Given the description of an element on the screen output the (x, y) to click on. 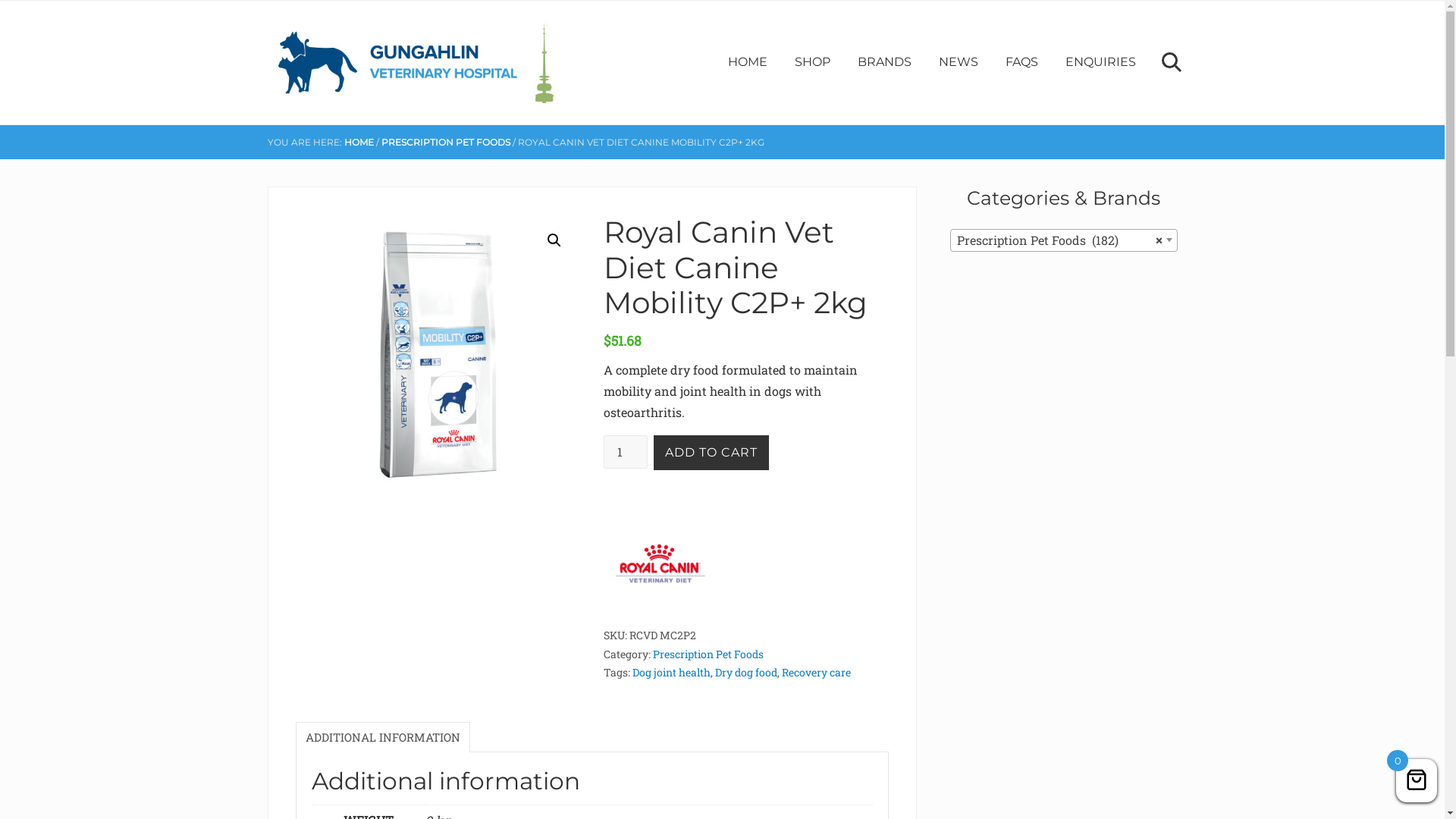
RCVD-MC2P Element type: hover (437, 356)
PRESCRIPTION PET FOODS Element type: text (444, 141)
Dog joint health Element type: text (671, 672)
SHOP Element type: text (812, 62)
Dry dog food Element type: text (746, 672)
HOME Element type: text (747, 62)
Search Element type: text (1169, 62)
Royal Canin Veterinary Diet Element type: hover (660, 566)
ENQUIRIES Element type: text (1099, 62)
Recovery care Element type: text (815, 672)
FAQS Element type: text (1021, 62)
Skip to right header navigation Element type: text (0, 0)
NEWS Element type: text (958, 62)
ADDITIONAL INFORMATION Element type: text (382, 736)
Prescription Pet Foods Element type: text (707, 653)
HOME Element type: text (358, 141)
ADD TO CART Element type: text (710, 452)
BRANDS Element type: text (883, 62)
